Given the description of an element on the screen output the (x, y) to click on. 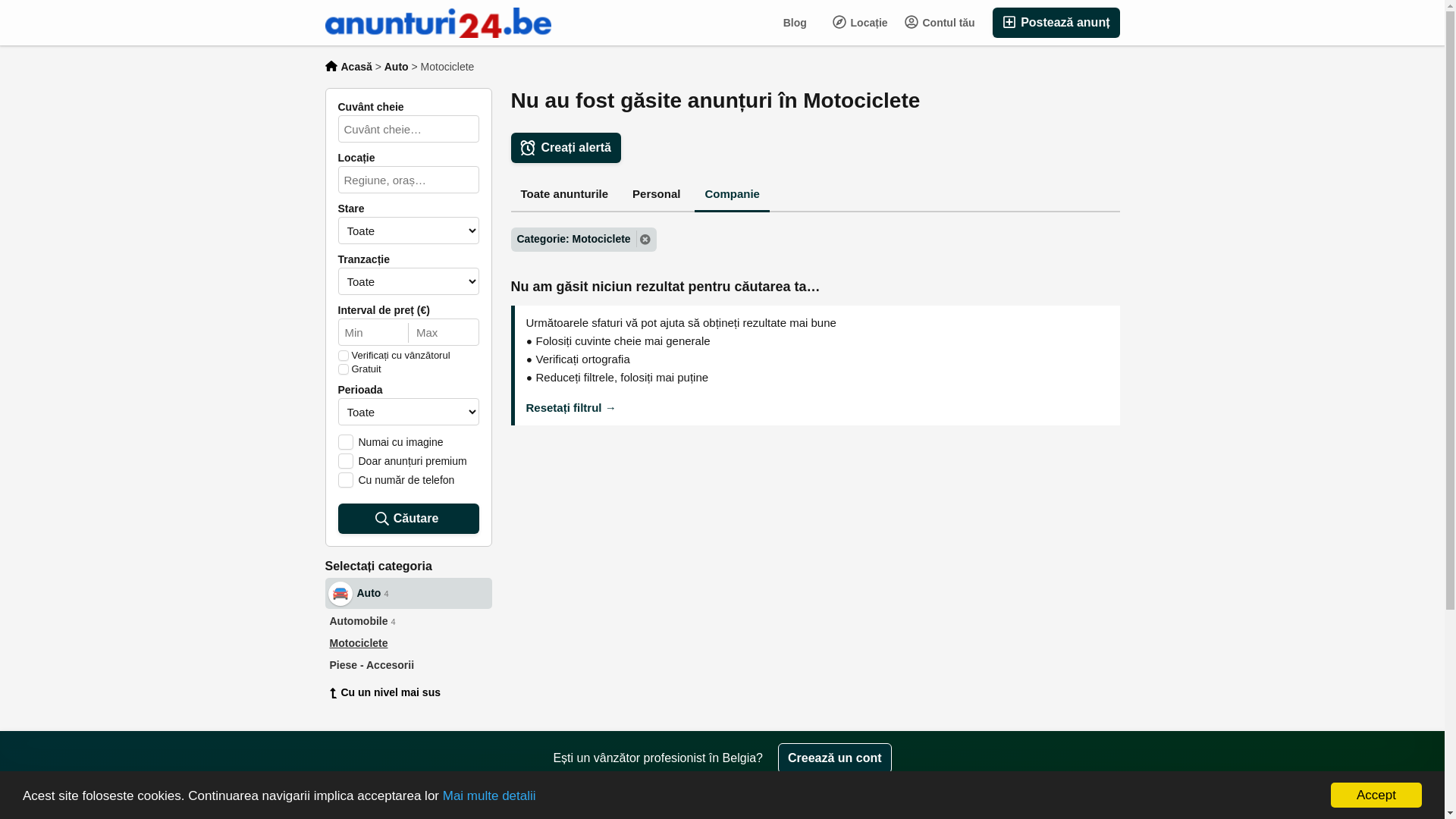
Cu un nivel mai sus Element type: text (407, 692)
Mai multe detalii Element type: text (489, 795)
Piese - Accesorii Element type: text (407, 665)
Auto
4 Element type: text (407, 592)
Blog Element type: text (794, 22)
Automobile
4 Element type: text (407, 621)
Companie Element type: text (731, 195)
Categorie: Motociclete Element type: text (583, 239)
Motociclete Element type: text (407, 643)
Personal Element type: text (656, 195)
Auto Element type: text (396, 66)
Accept Element type: text (1375, 794)
Toate anunturile Element type: text (564, 195)
